Given the description of an element on the screen output the (x, y) to click on. 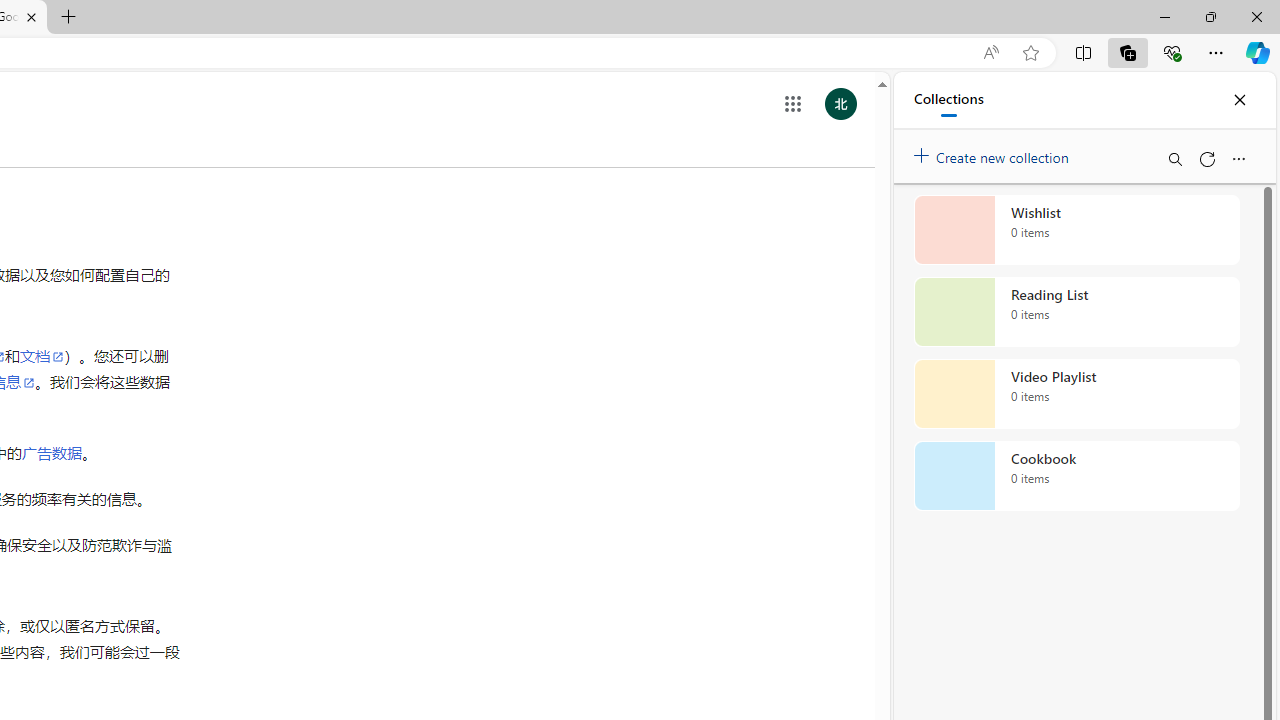
Reading List collection, 0 items (1076, 312)
Wishlist collection, 0 items (1076, 229)
Cookbook collection, 0 items (1076, 475)
Create new collection (994, 153)
More options menu (1238, 158)
